Given the description of an element on the screen output the (x, y) to click on. 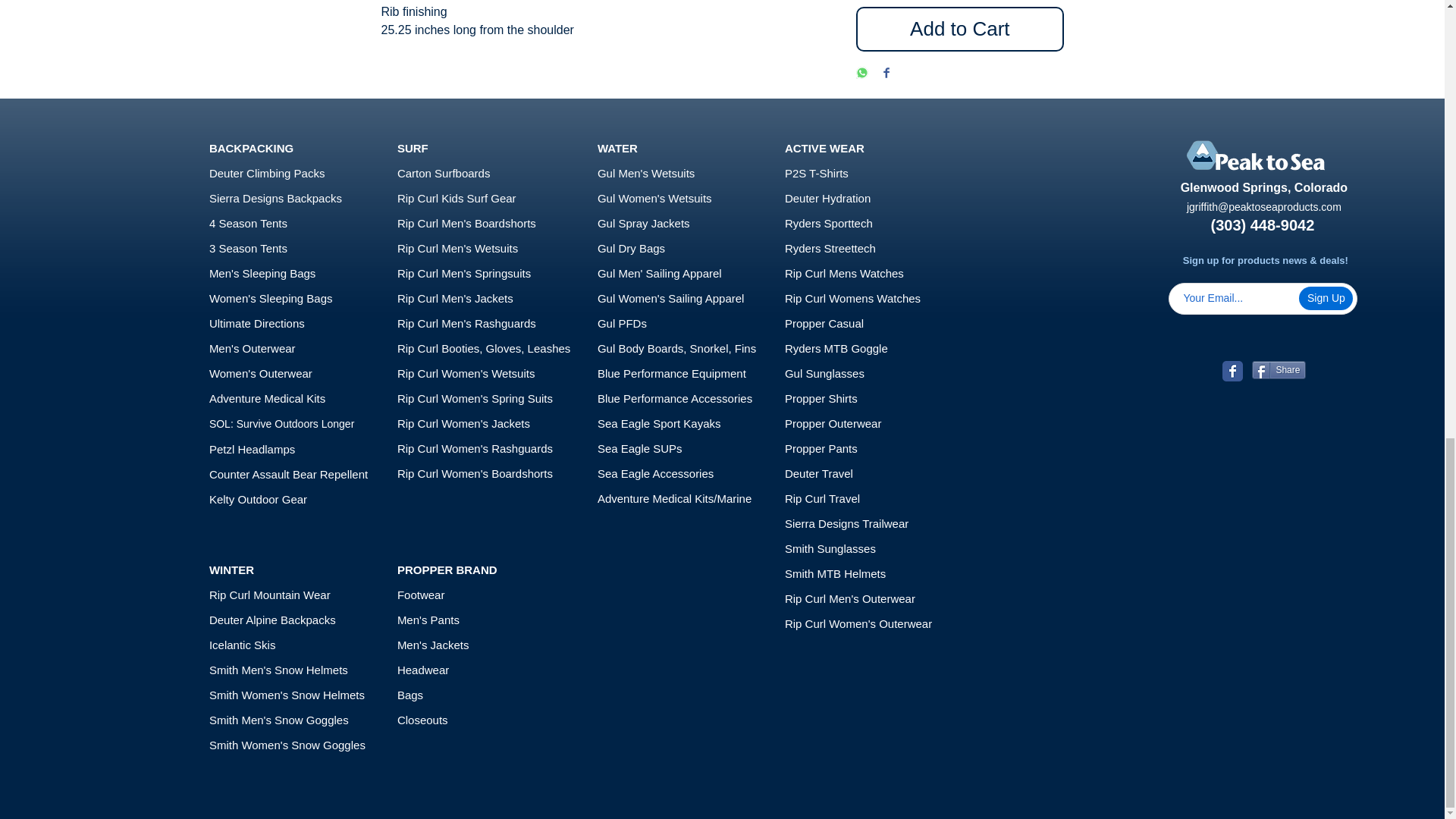
Share (1279, 370)
